Given the description of an element on the screen output the (x, y) to click on. 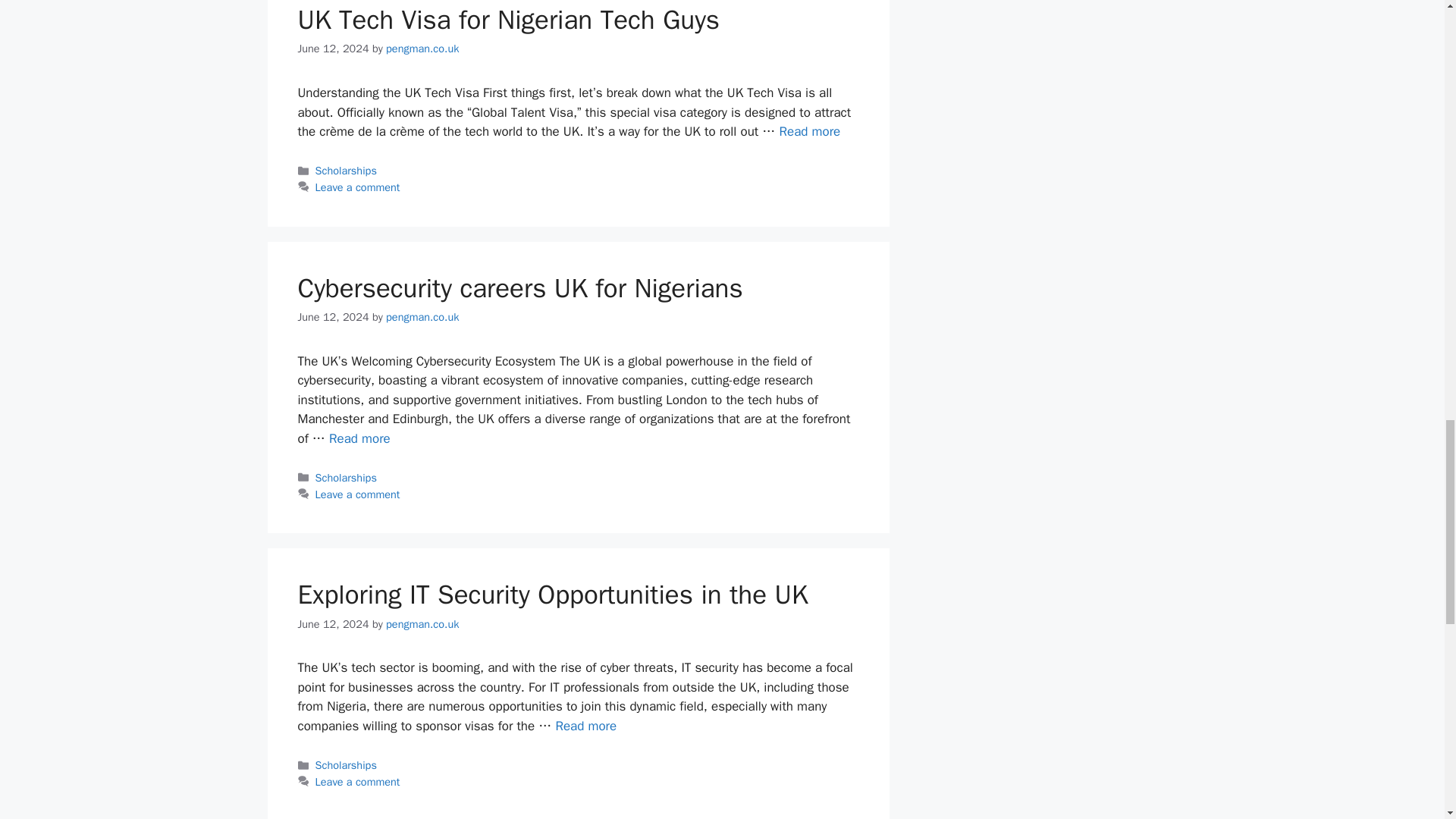
Read more (809, 131)
Exploring IT Security Opportunities in the UK (584, 725)
UK Tech Visa for Nigerian Tech Guys (508, 19)
pengman.co.uk (421, 48)
Scholarships (346, 170)
Cybersecurity careers UK for Nigerians (359, 438)
View all posts by pengman.co.uk (421, 623)
View all posts by pengman.co.uk (421, 48)
View all posts by pengman.co.uk (421, 316)
UK Tech Visa for Nigerian Tech Guys (809, 131)
